Given the description of an element on the screen output the (x, y) to click on. 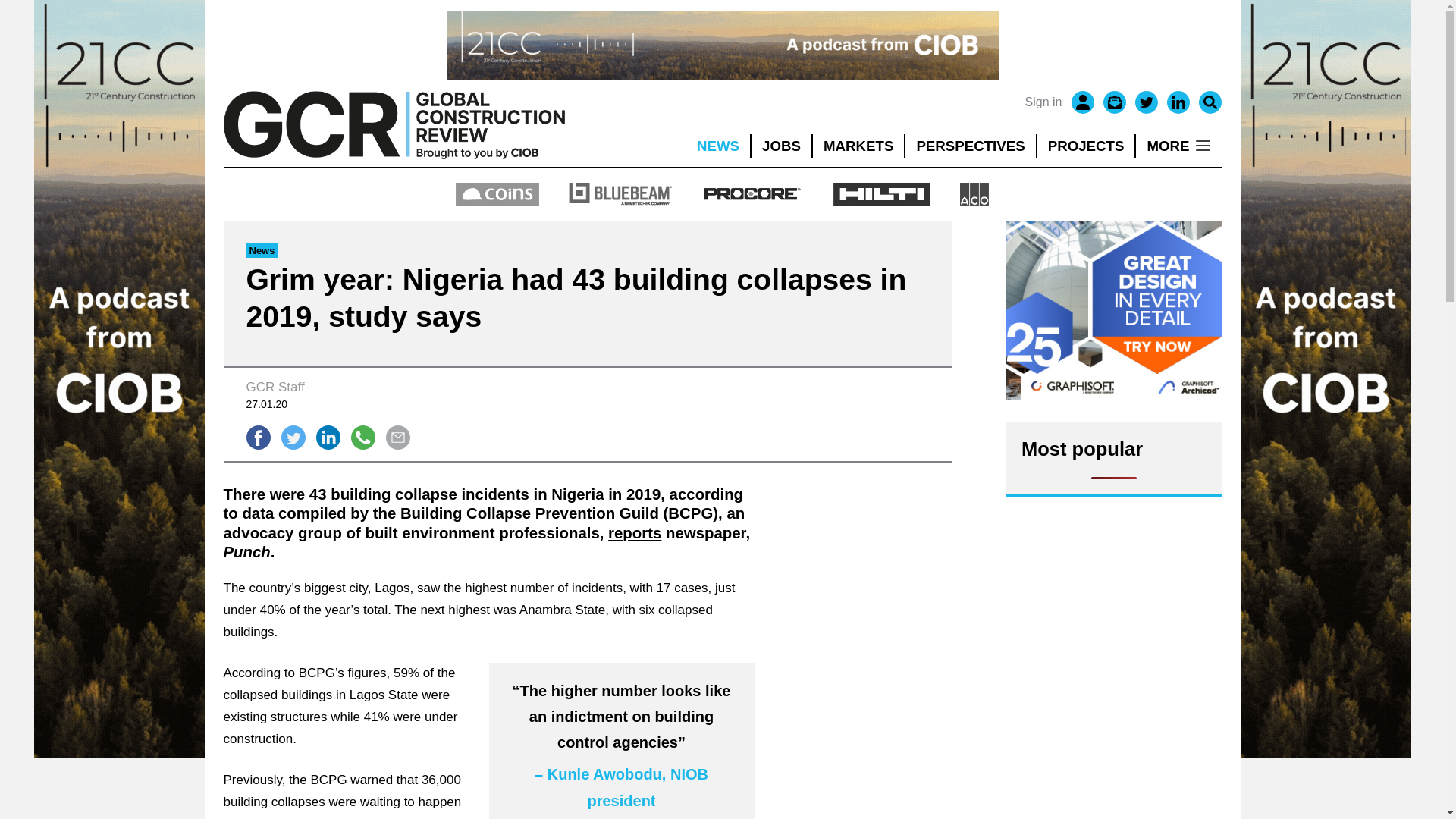
MORE (1178, 146)
PERSPECTIVES (970, 146)
Sign in (1043, 102)
Send email (397, 437)
MARKETS (858, 146)
Share on WhatsApp (362, 437)
Share on Facebook (257, 437)
Share on LinkedIn (327, 437)
NEWS (717, 146)
Tweet (292, 437)
PROJECTS (1085, 146)
JOBS (780, 146)
